Given the description of an element on the screen output the (x, y) to click on. 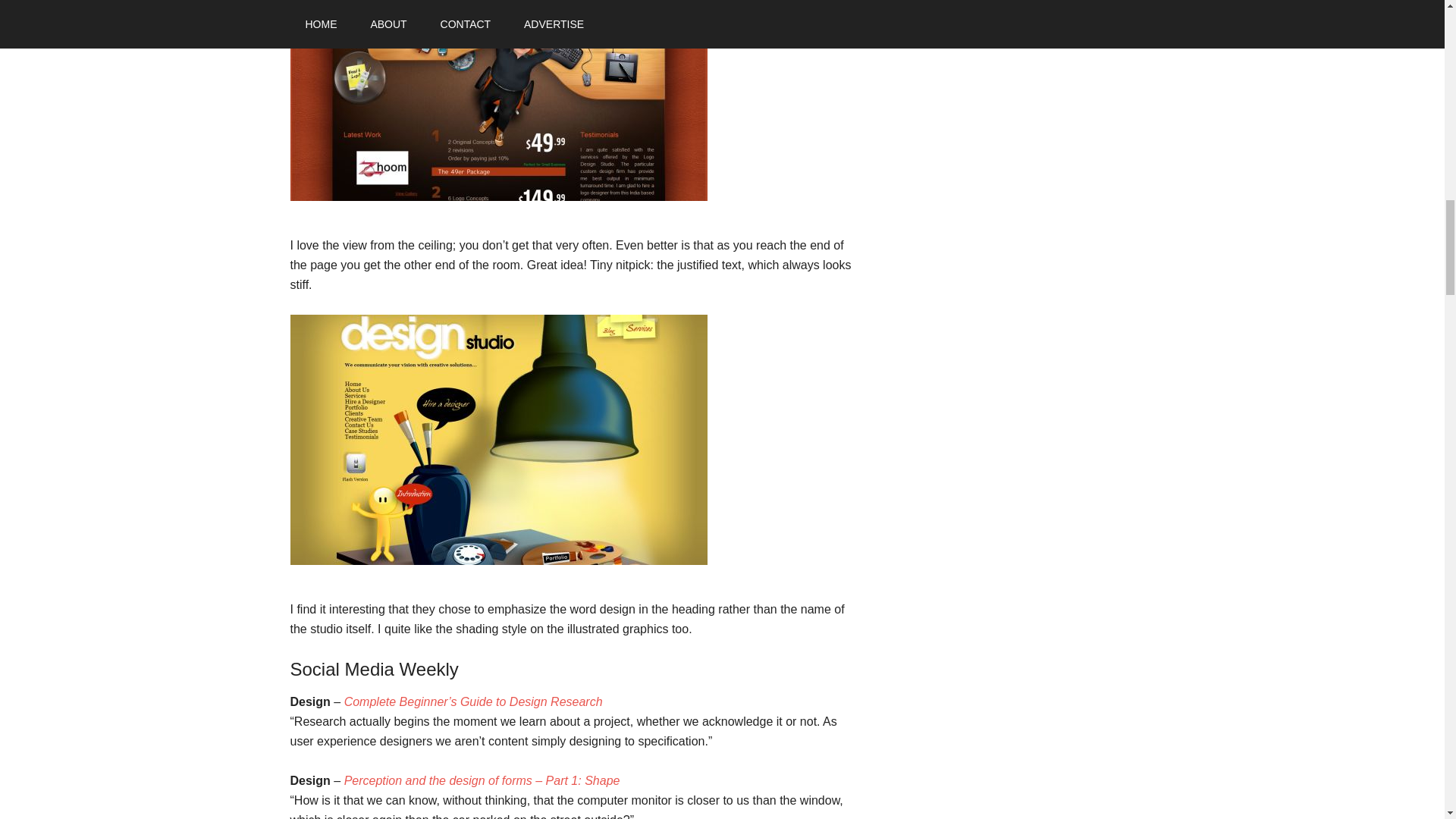
Logo Designs Studio (497, 100)
Icreon Design Studio (497, 439)
